Given the description of an element on the screen output the (x, y) to click on. 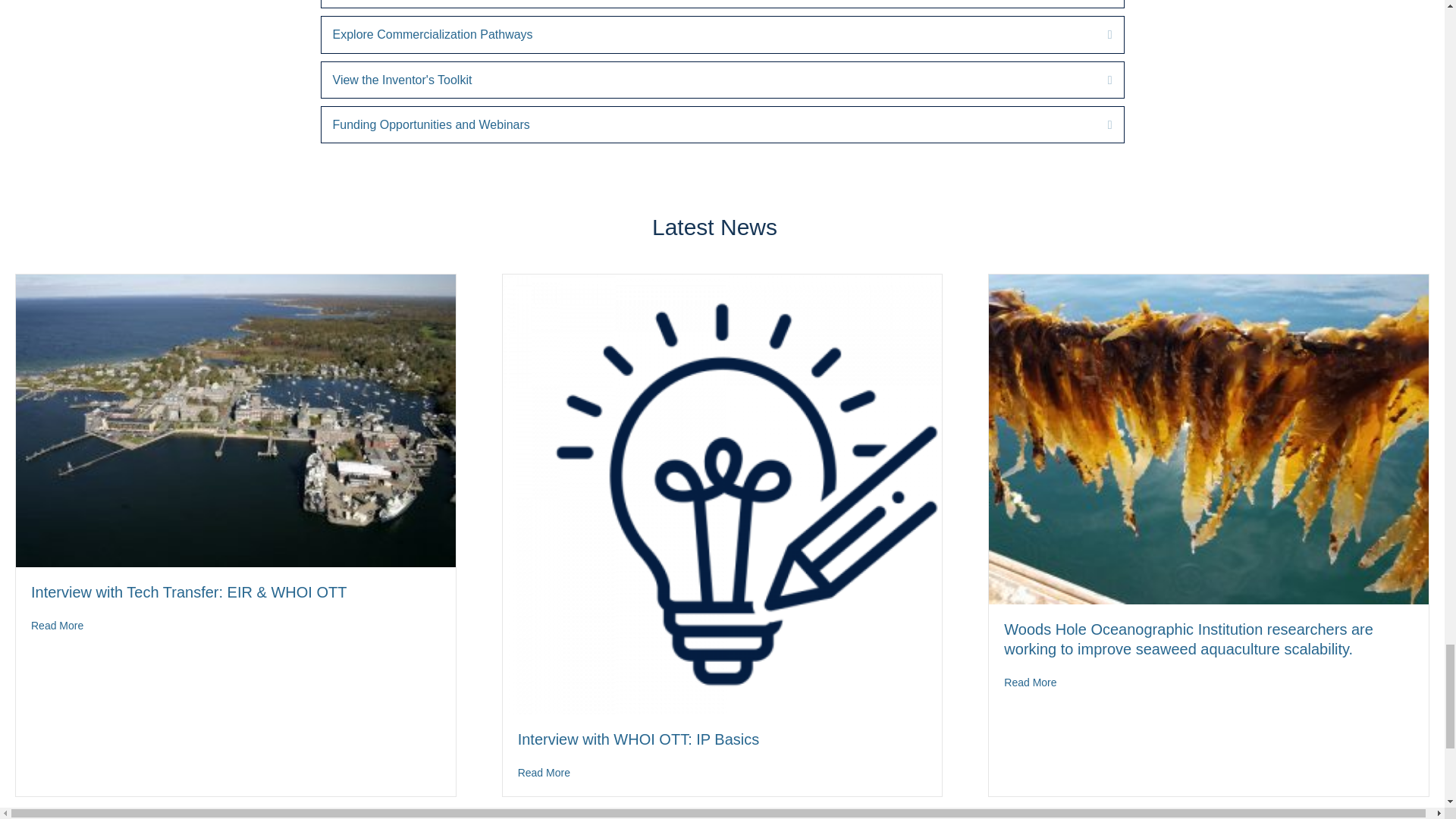
Interview with WHOI OTT: IP Basics (544, 772)
Interview with WHOI OTT: IP Basics (722, 492)
Interview with WHOI OTT: IP Basics (639, 739)
